Given the description of an element on the screen output the (x, y) to click on. 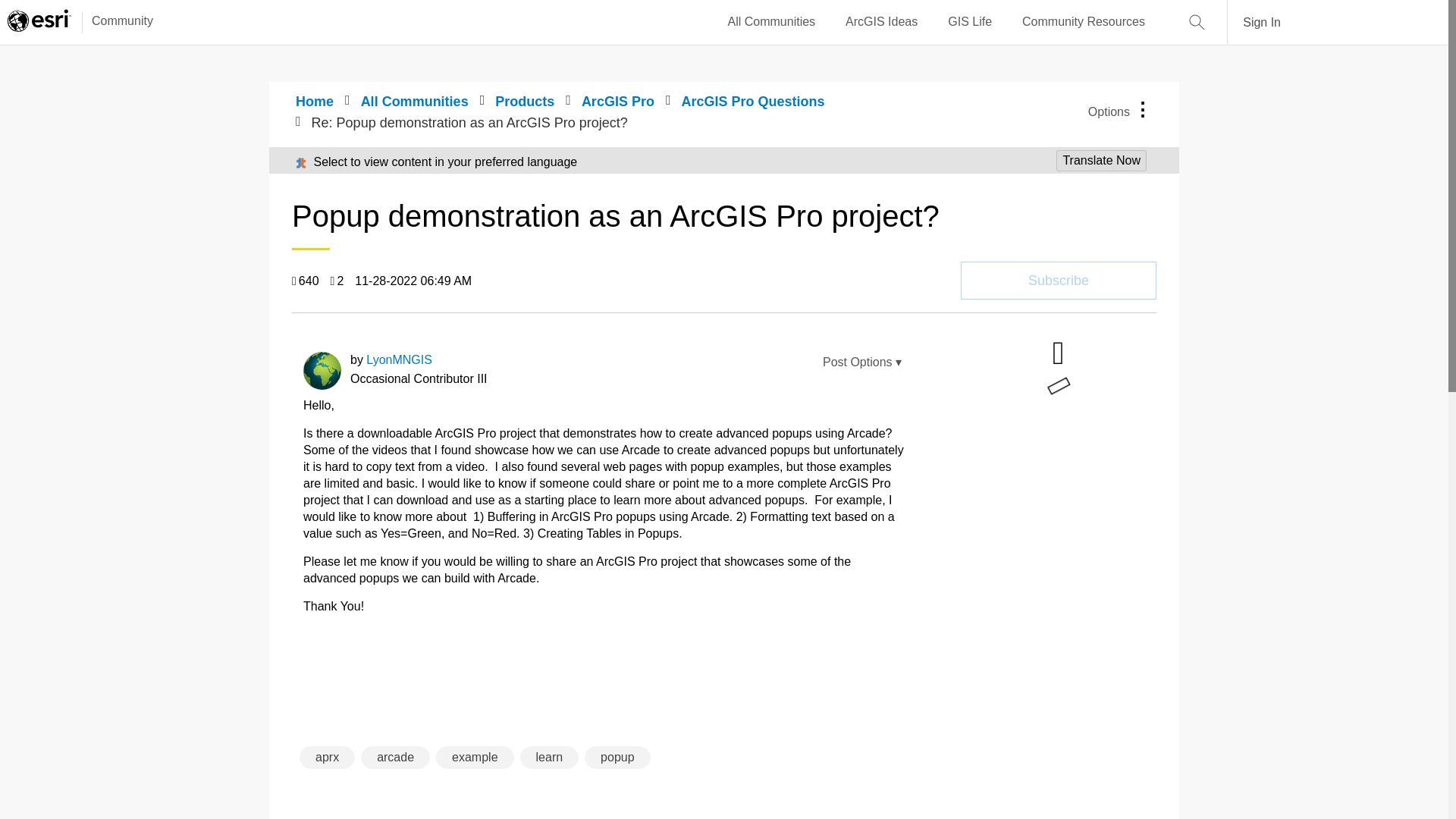
Community (114, 22)
All Communities (772, 22)
